Given the description of an element on the screen output the (x, y) to click on. 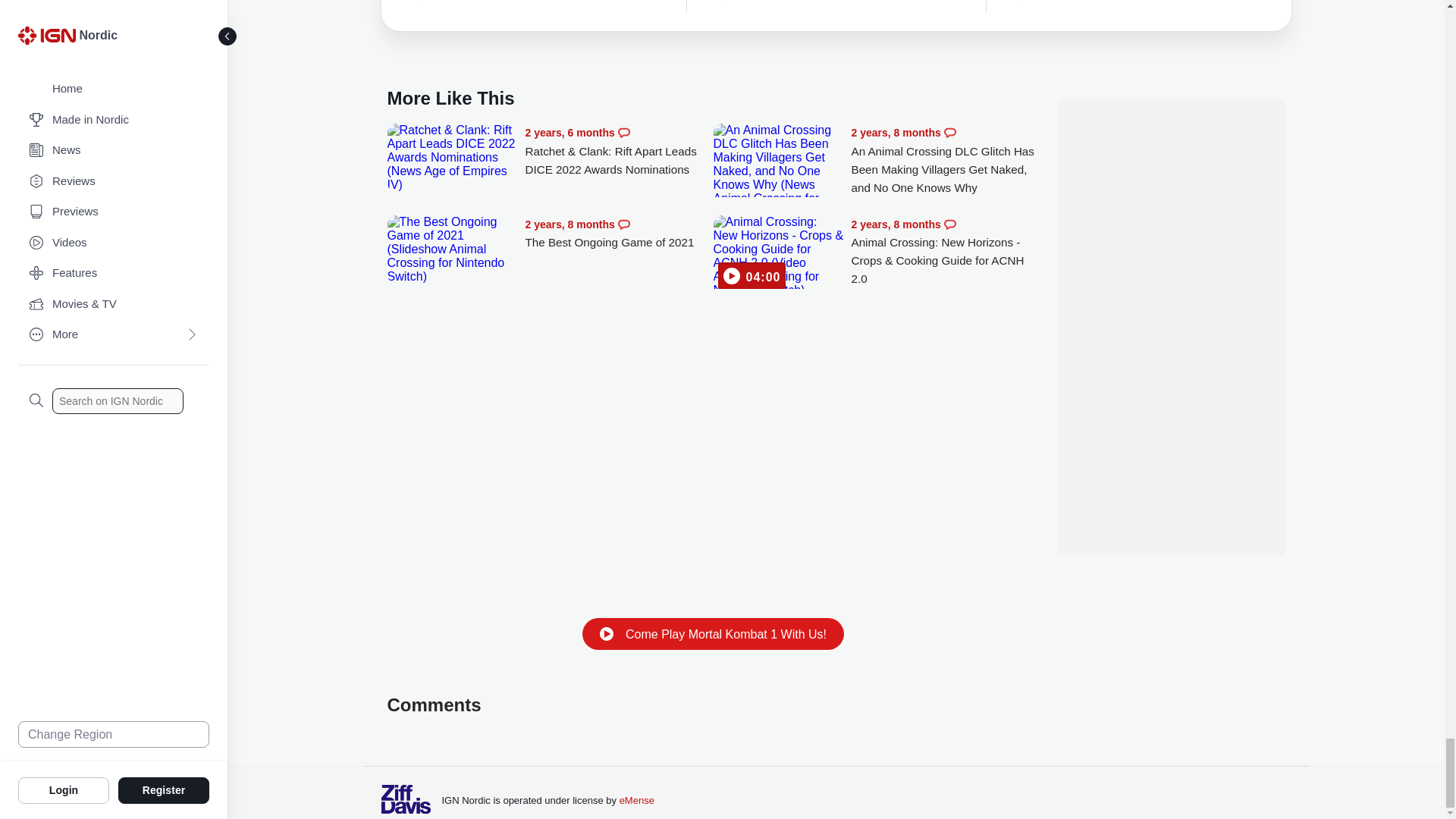
Comments (623, 224)
Comments (949, 132)
The Best Ongoing Game of 2021 (618, 233)
Comments (623, 132)
The Best Ongoing Game of 2021 (451, 249)
